Given the description of an element on the screen output the (x, y) to click on. 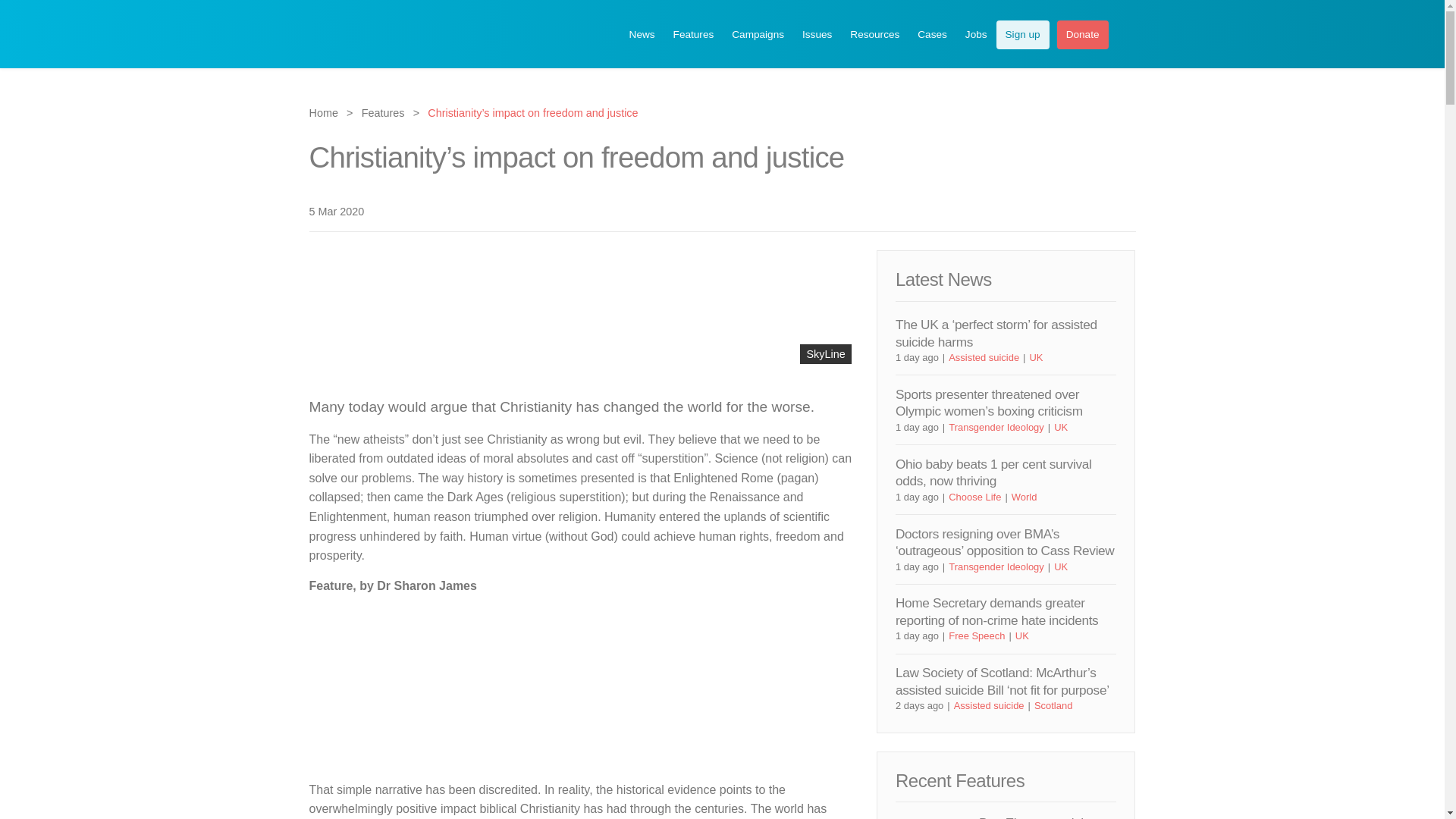
Share this through Email (1125, 210)
Share this on Twitter (1074, 210)
Share this on Facebook (1099, 210)
